Given the description of an element on the screen output the (x, y) to click on. 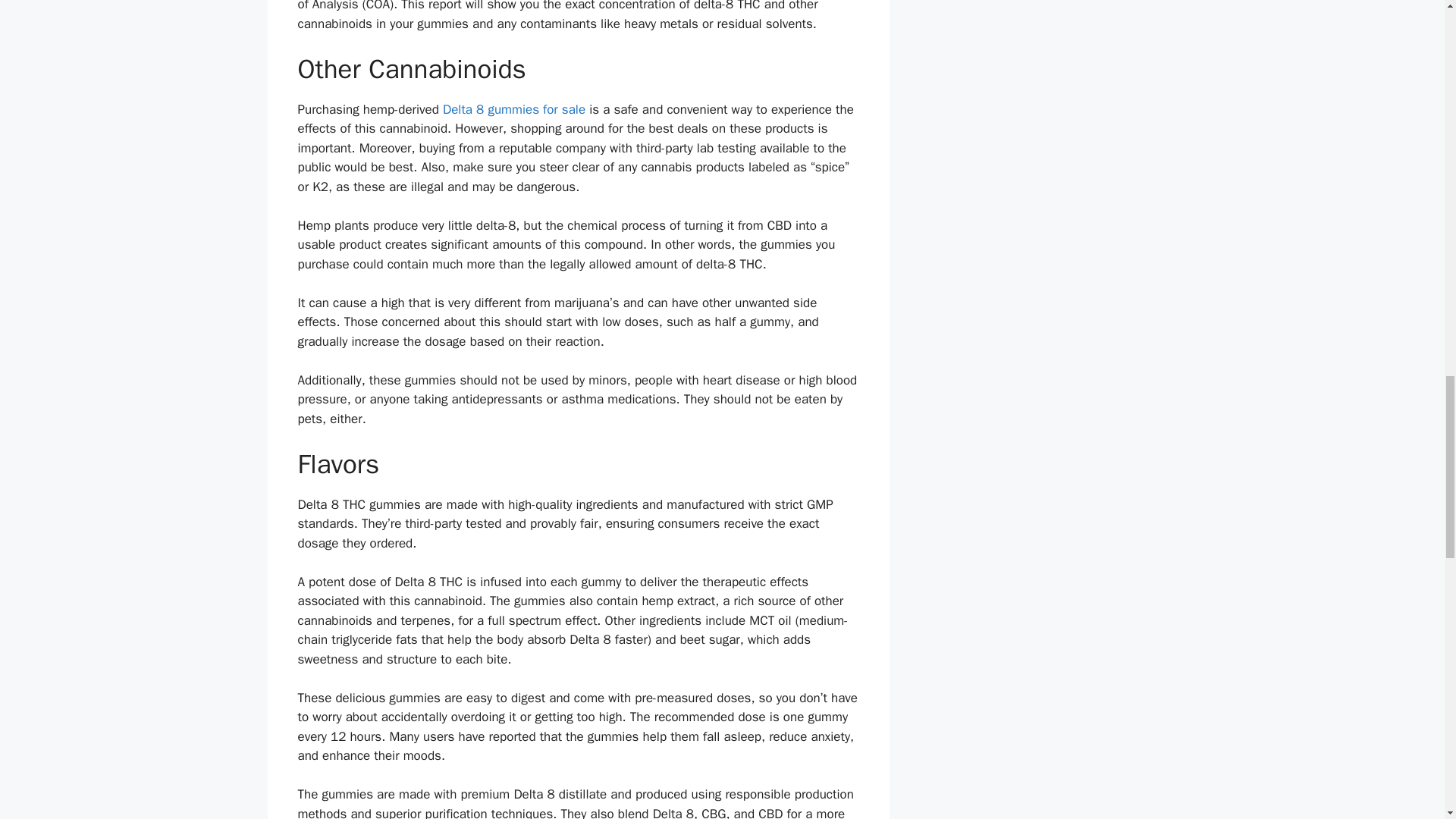
Delta 8 gummies for sale (513, 109)
